Given the description of an element on the screen output the (x, y) to click on. 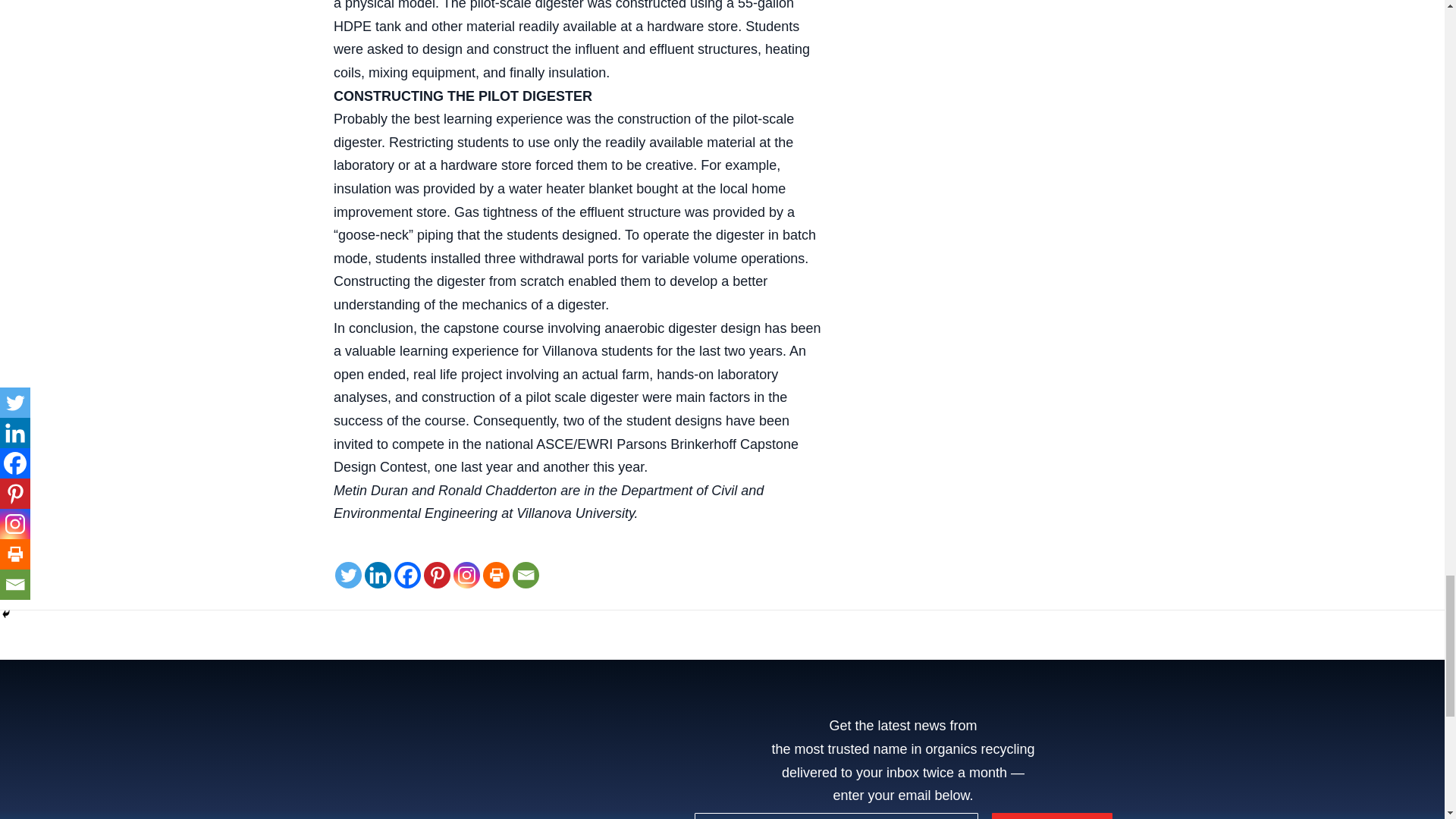
Sign Up Now! (1051, 816)
Pinterest (436, 574)
Twitter (347, 574)
Linkedin (378, 574)
Email (525, 574)
Print (496, 574)
Instagram (466, 574)
Facebook (407, 574)
